Given the description of an element on the screen output the (x, y) to click on. 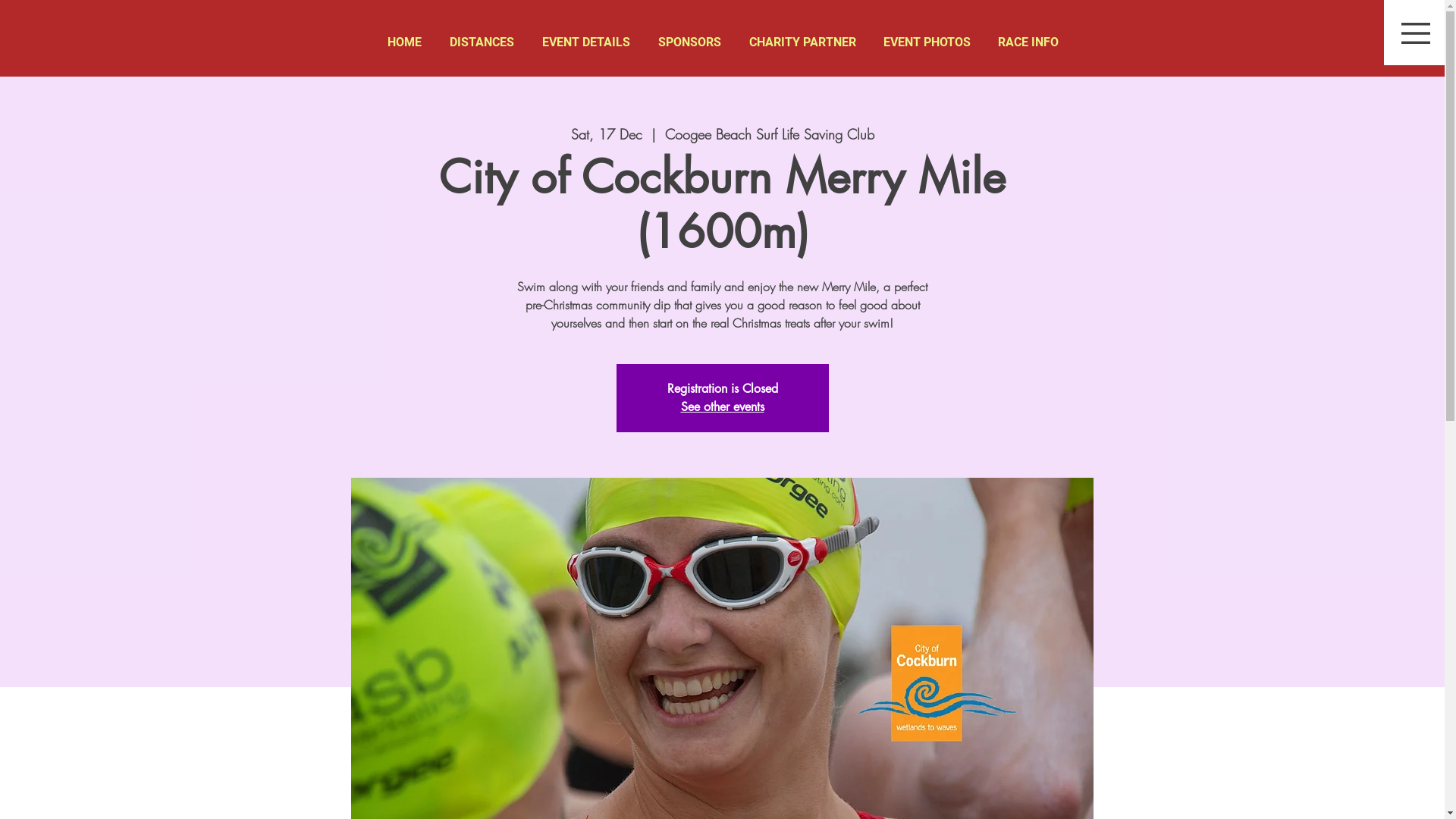
DISTANCES Element type: text (481, 41)
CHARITY PARTNER Element type: text (802, 41)
SPONSORS Element type: text (689, 41)
HOME Element type: text (404, 41)
EVENT PHOTOS Element type: text (926, 41)
RACE INFO Element type: text (1028, 41)
See other events Element type: text (722, 406)
EVENT DETAILS Element type: text (585, 41)
